Given the description of an element on the screen output the (x, y) to click on. 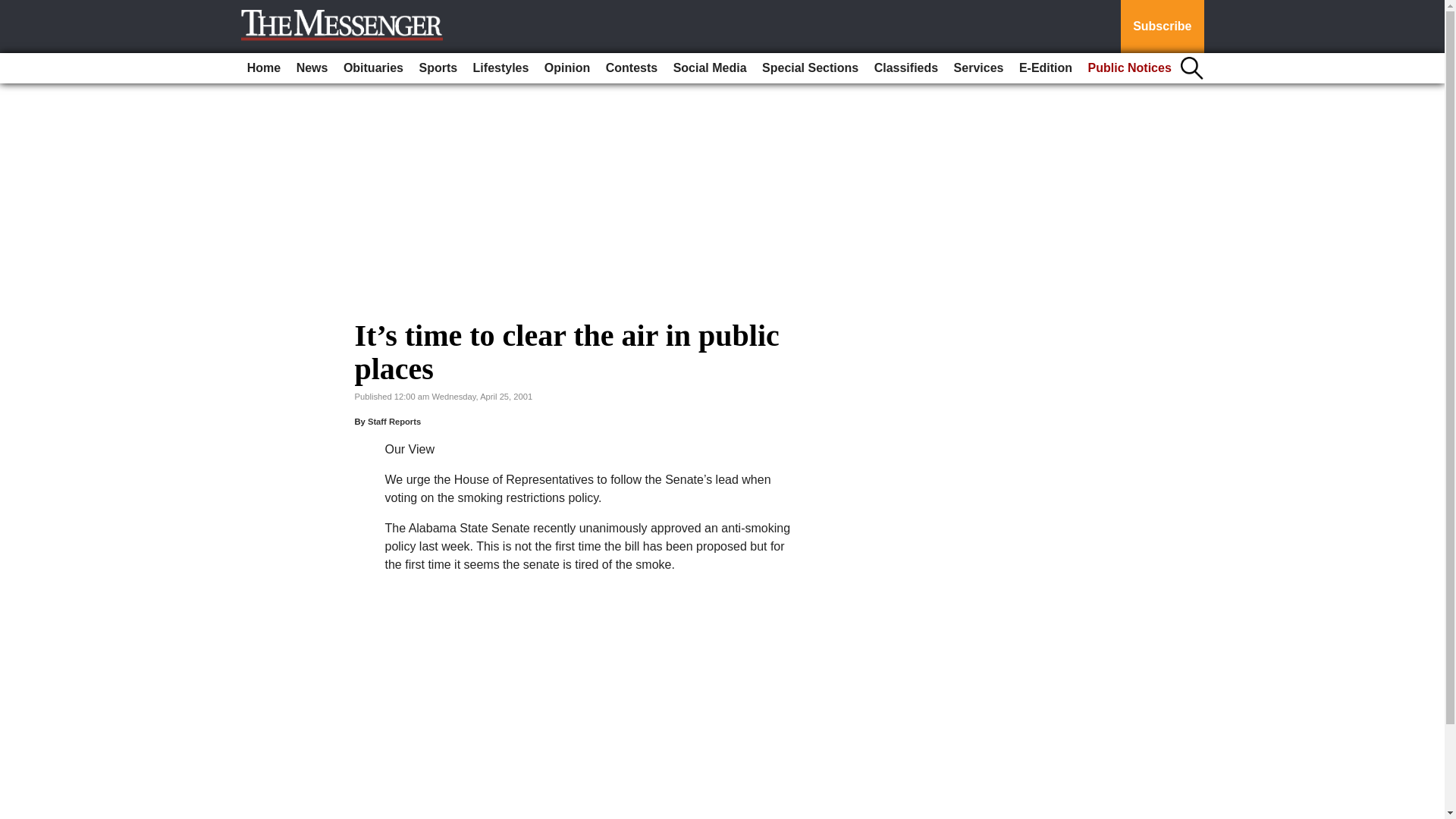
Services (978, 68)
News (311, 68)
Subscribe (1162, 26)
E-Edition (1045, 68)
Contests (631, 68)
Home (263, 68)
Lifestyles (501, 68)
Opinion (566, 68)
Obituaries (373, 68)
Sports (437, 68)
